Given the description of an element on the screen output the (x, y) to click on. 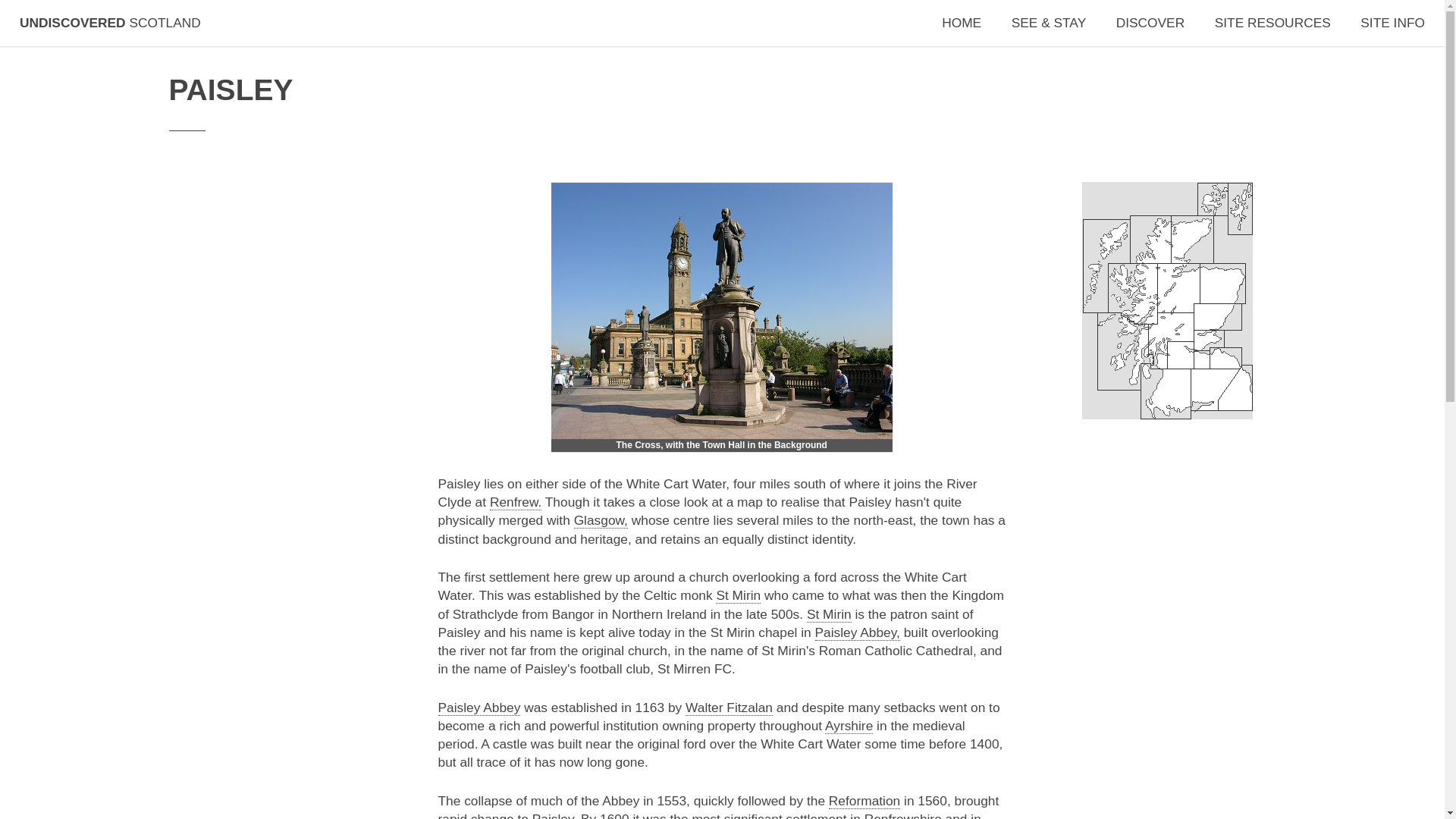
SITE RESOURCES (1272, 22)
SITE INFO (1392, 22)
UNDISCOVERED SCOTLAND (110, 22)
DISCOVER (1150, 22)
HOME (961, 22)
